Given the description of an element on the screen output the (x, y) to click on. 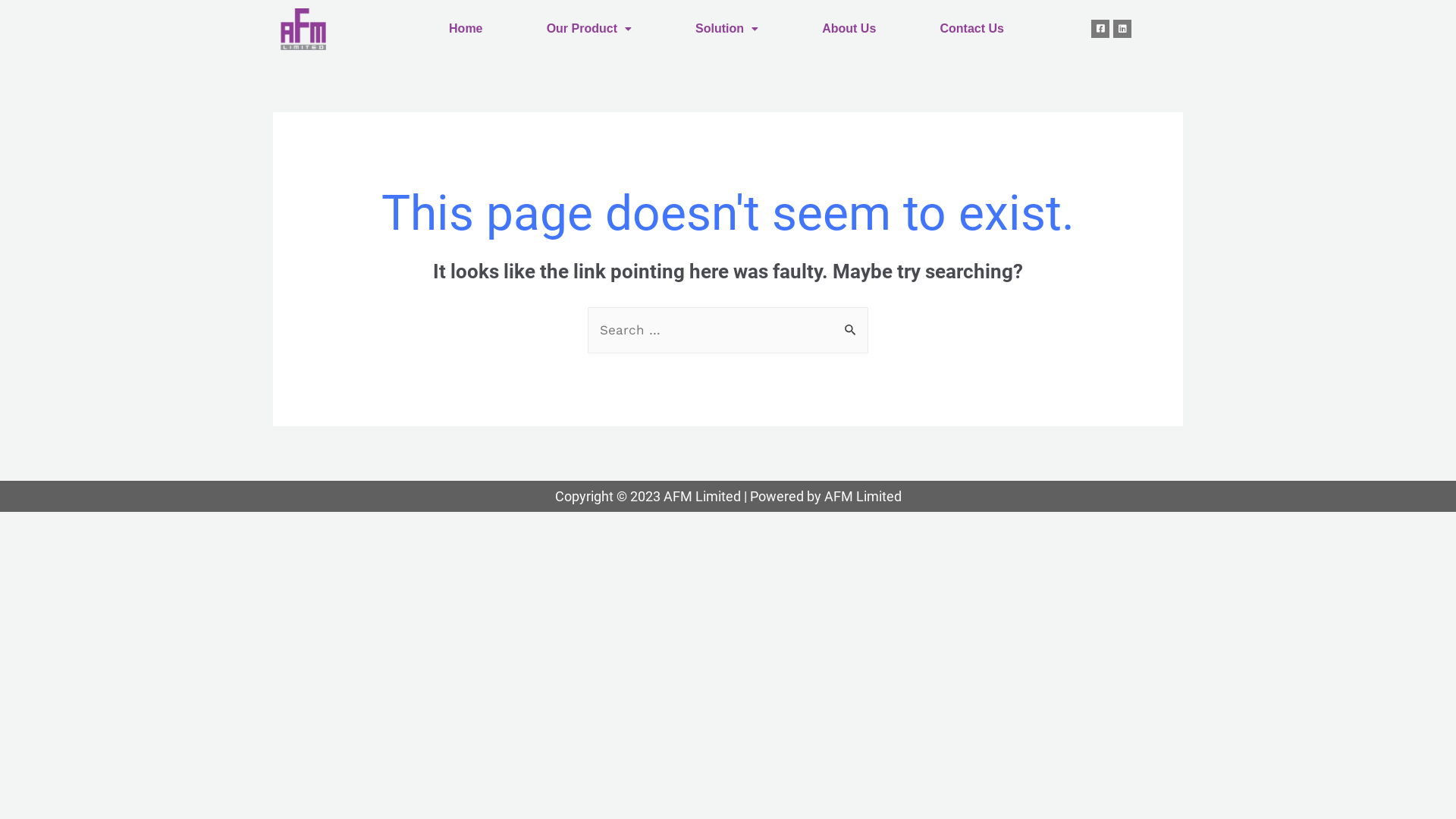
Contact Us Element type: text (971, 28)
Home Element type: text (465, 28)
Search Element type: text (851, 322)
About Us Element type: text (848, 28)
Our Product Element type: text (588, 28)
Solution Element type: text (726, 28)
